Given the description of an element on the screen output the (x, y) to click on. 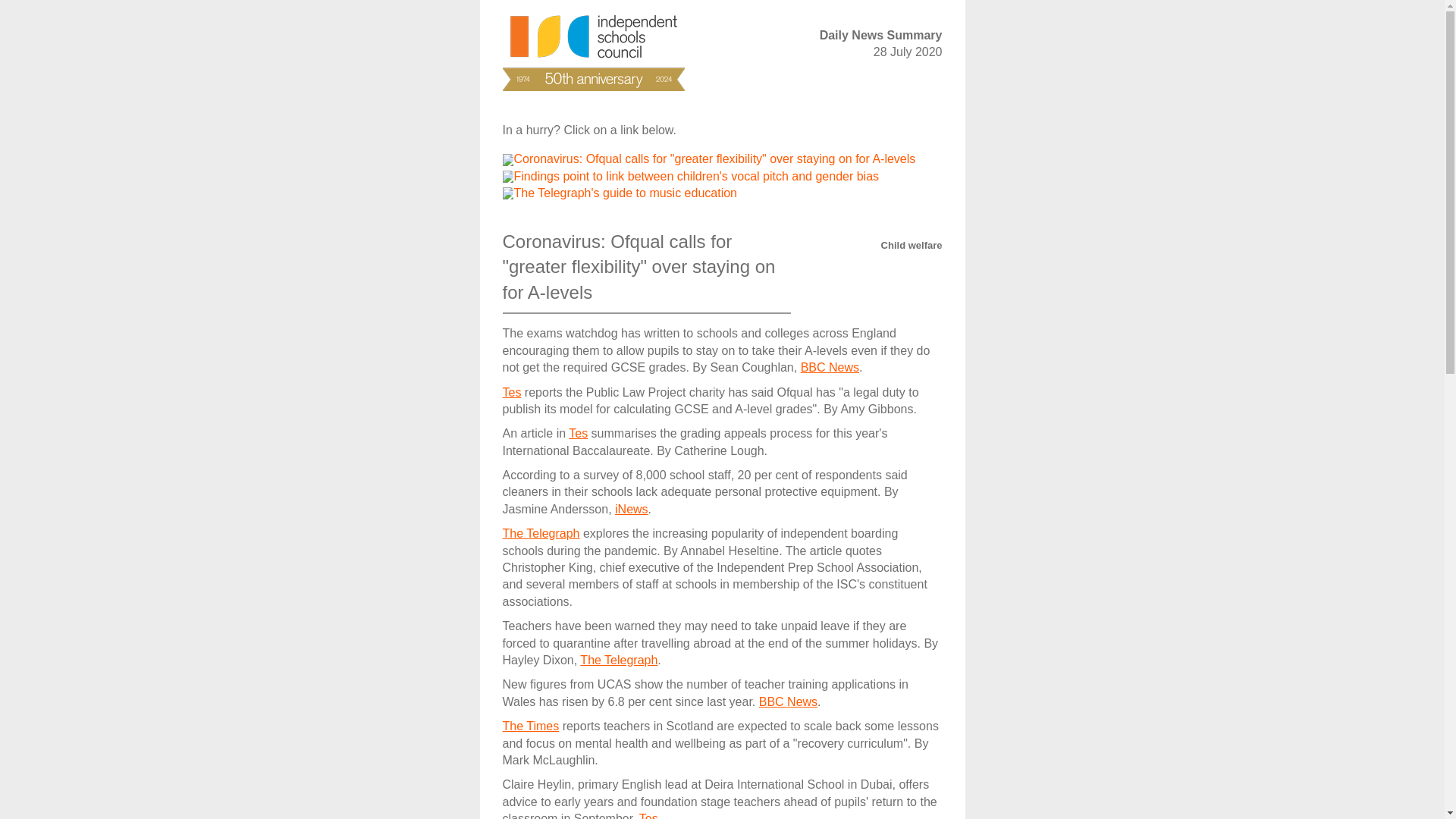
iNews (630, 508)
The Telegraph's guide to music education (625, 192)
BBC News (829, 367)
The Times (530, 725)
Tes (648, 815)
Tes (511, 391)
The Telegraph (540, 533)
The Telegraph (618, 659)
Tes (578, 432)
BBC News (787, 701)
